Given the description of an element on the screen output the (x, y) to click on. 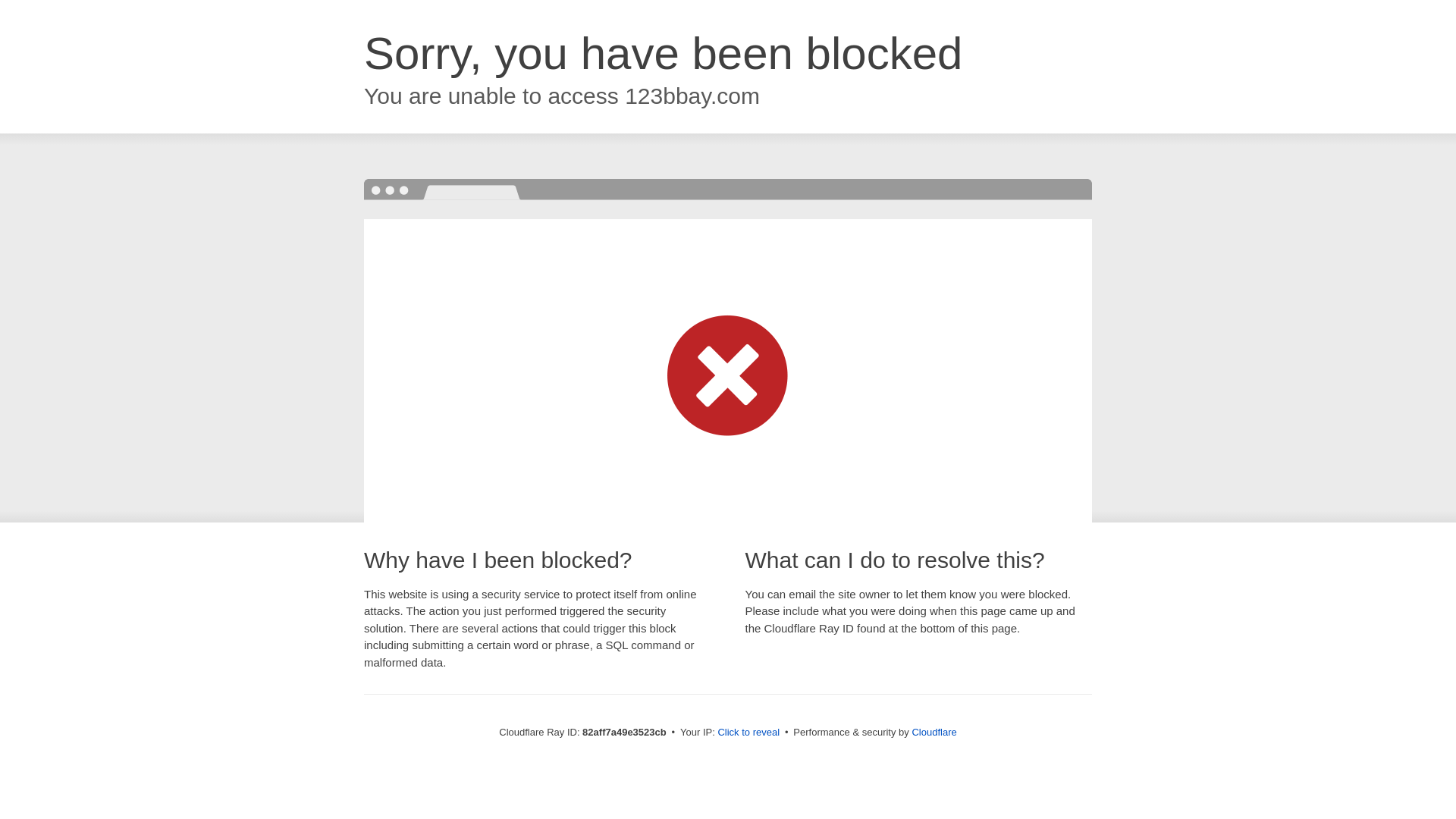
Click to reveal Element type: text (748, 732)
Cloudflare Element type: text (933, 731)
